Given the description of an element on the screen output the (x, y) to click on. 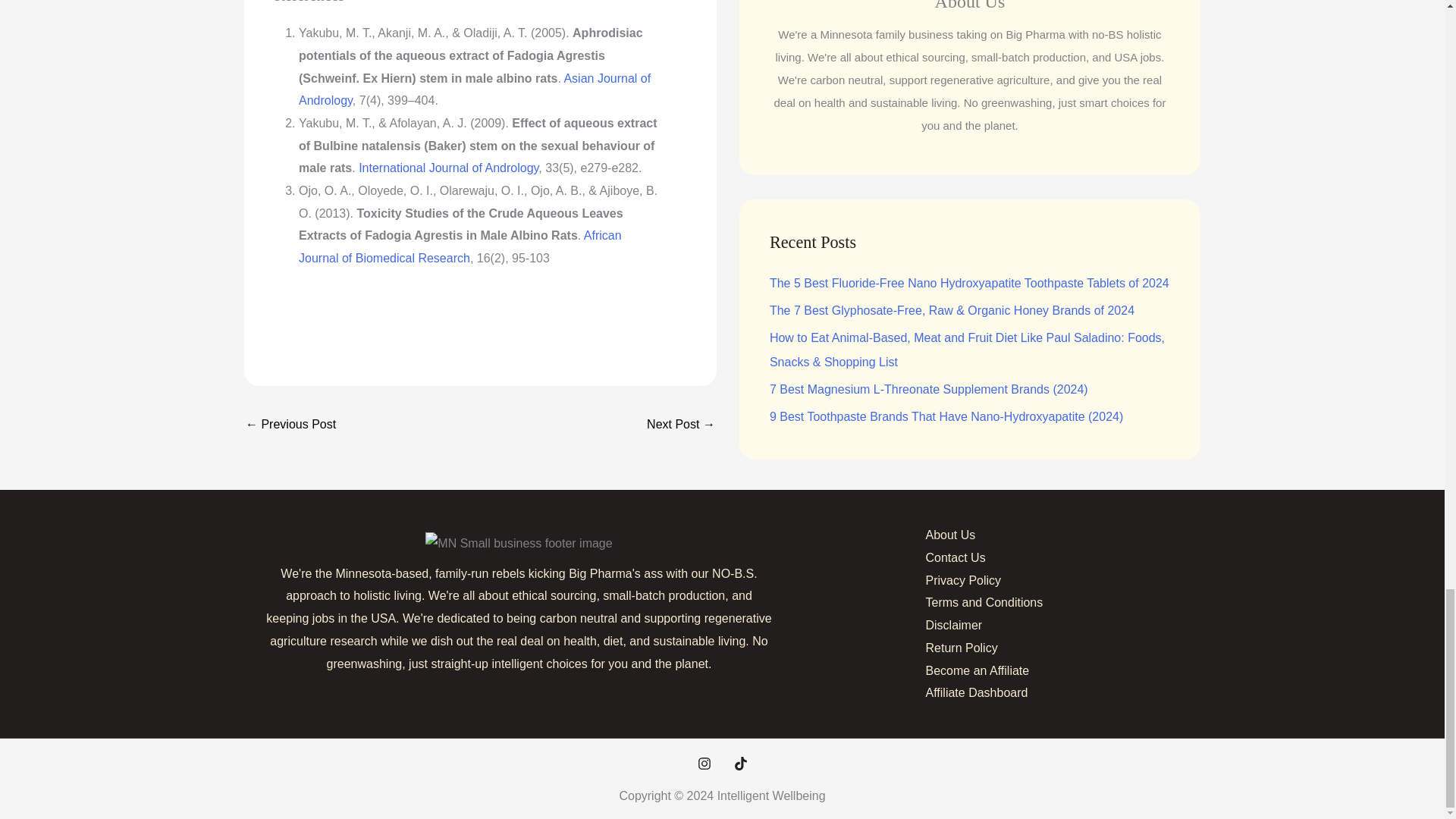
Can Kids Take Magnesium L-Threonate? (291, 425)
International Journal of Andrology (448, 167)
African Journal of Biomedical Research (459, 246)
Does Melatonin Affect Testosterone? A Comprehensive Look (680, 425)
Asian Journal of Andrology (474, 89)
